Given the description of an element on the screen output the (x, y) to click on. 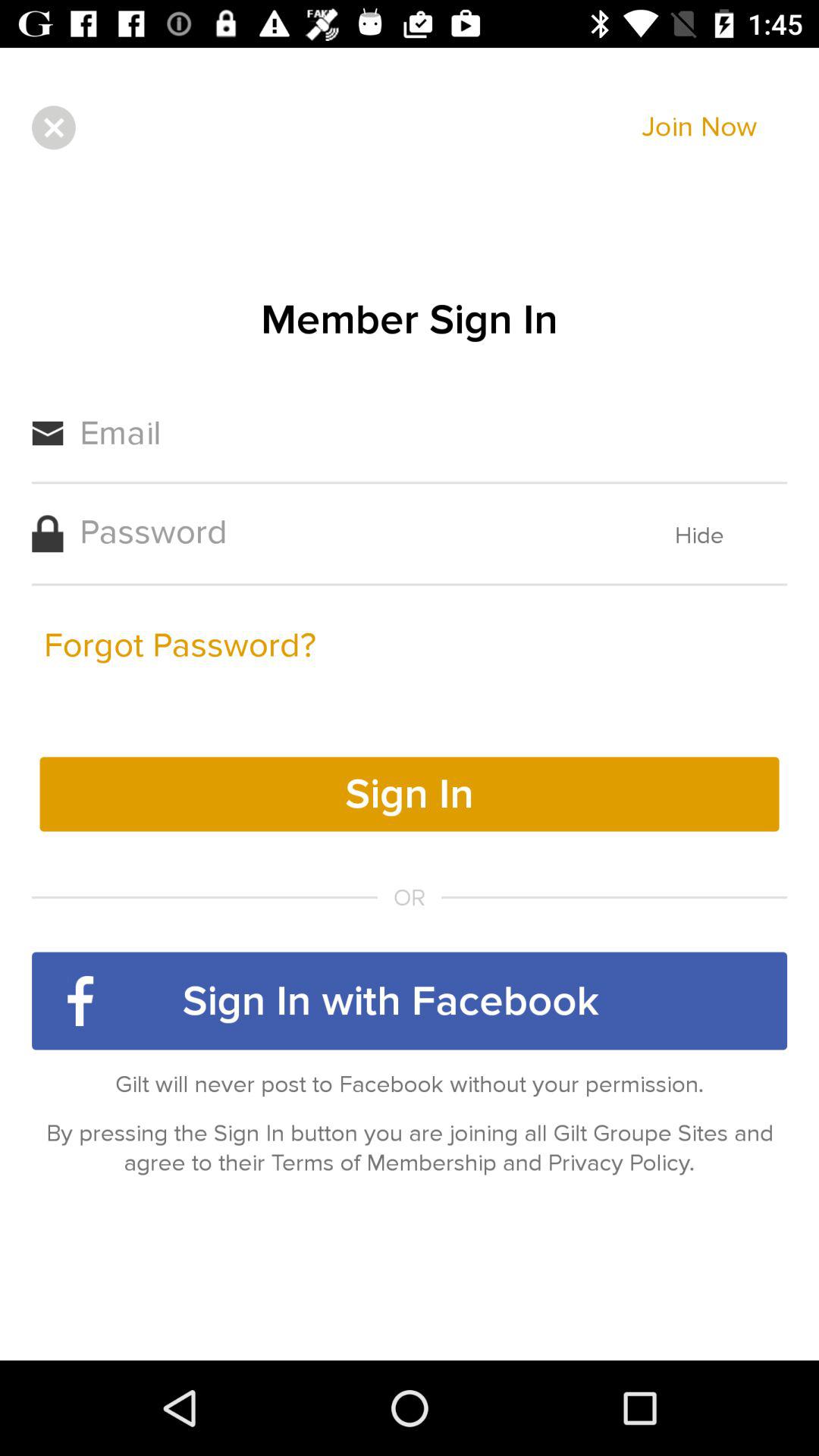
tap join now (699, 127)
